Given the description of an element on the screen output the (x, y) to click on. 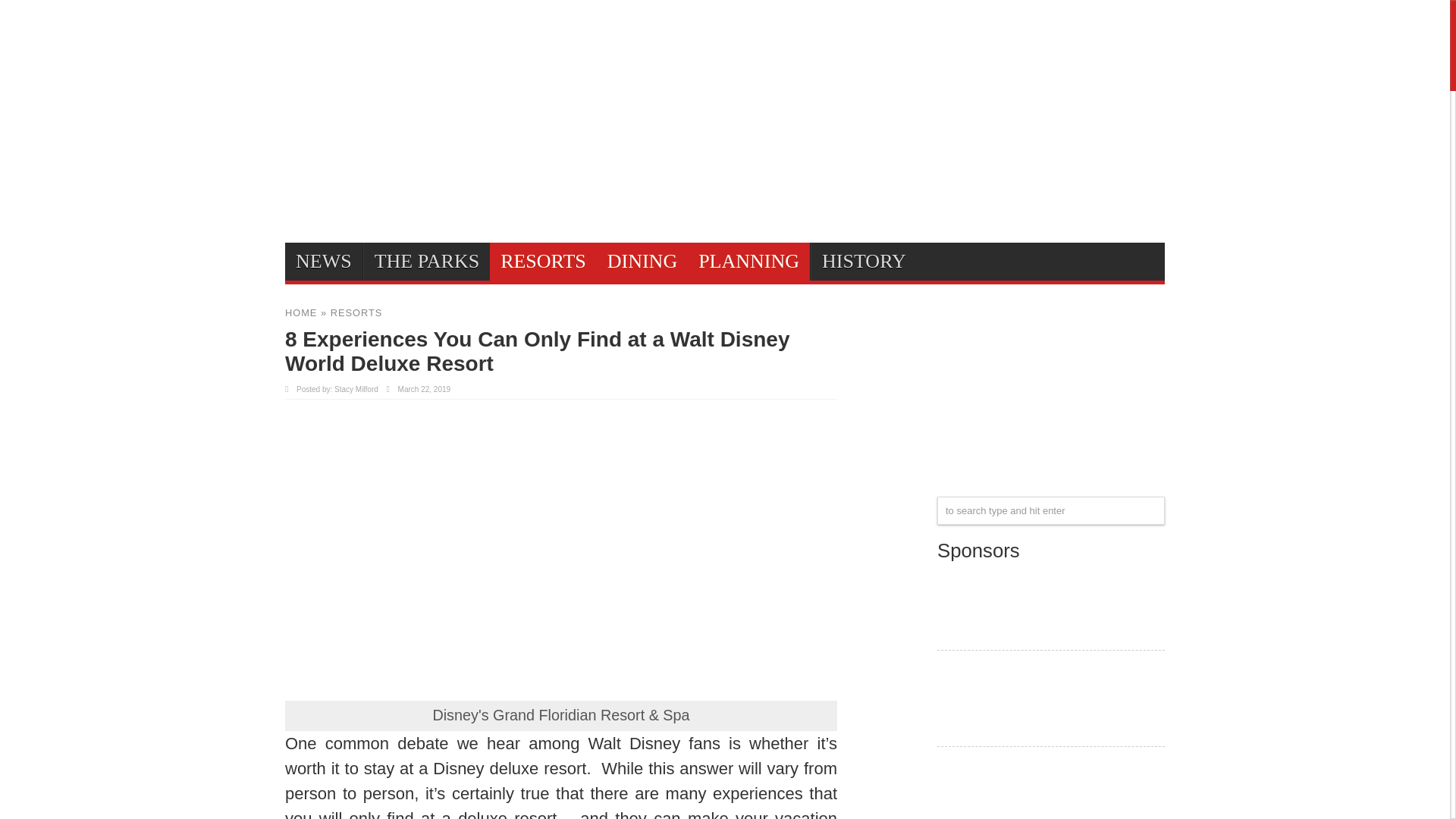
HISTORY (863, 261)
NEWS (323, 261)
WDW Magazine (1050, 631)
to search type and hit enter (1050, 510)
HOME (301, 312)
THE PARKS (425, 261)
DINING (641, 261)
RESORTS (542, 261)
Stacy Milford (356, 388)
PLANNING (748, 261)
